Given the description of an element on the screen output the (x, y) to click on. 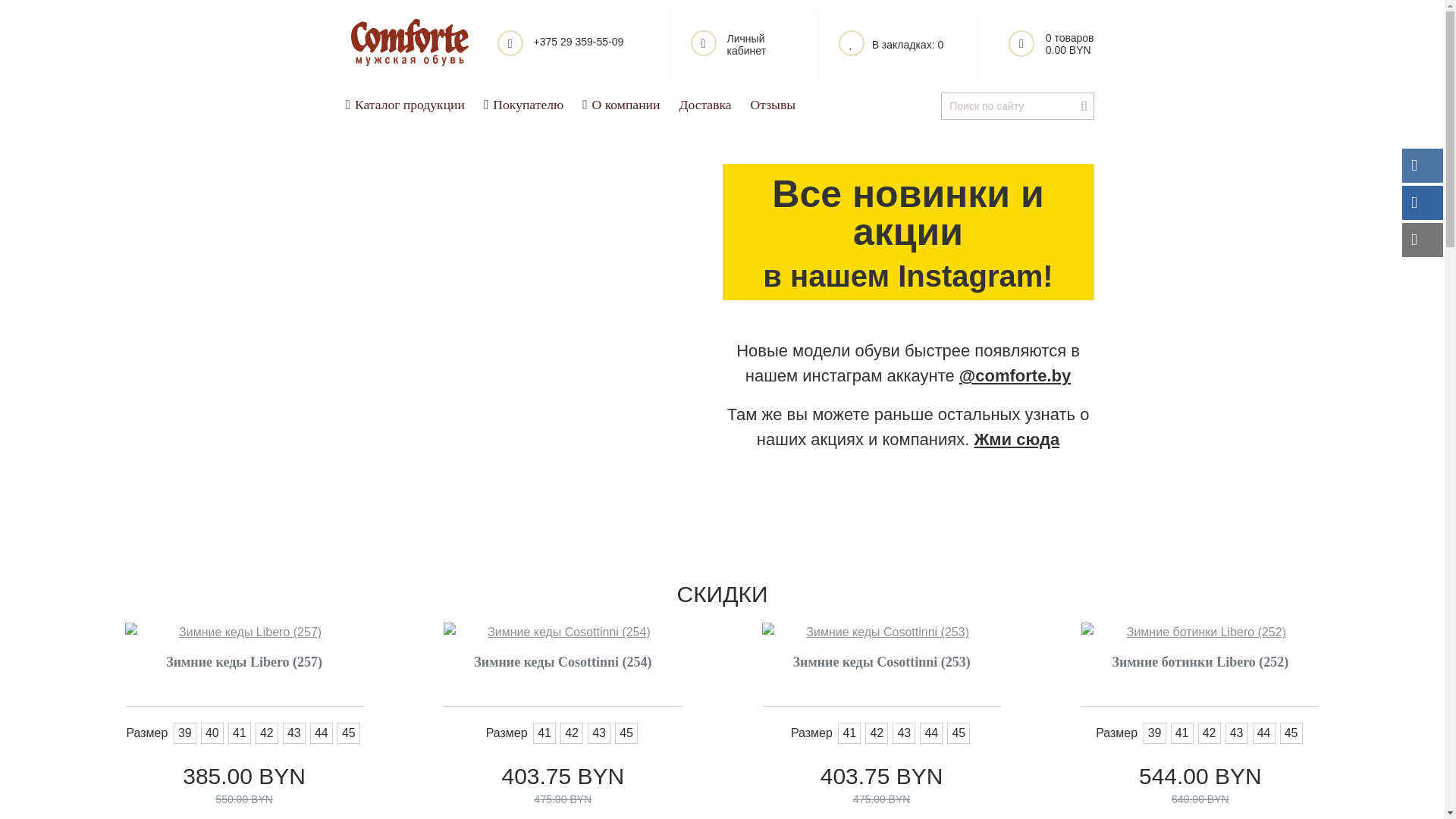
15 % Element type: text (881, 632)
15 % Element type: text (1200, 632)
15 % Element type: text (562, 632)
+375 29 359-55-09 Element type: text (574, 43)
30 % Element type: text (244, 632)
